Given the description of an element on the screen output the (x, y) to click on. 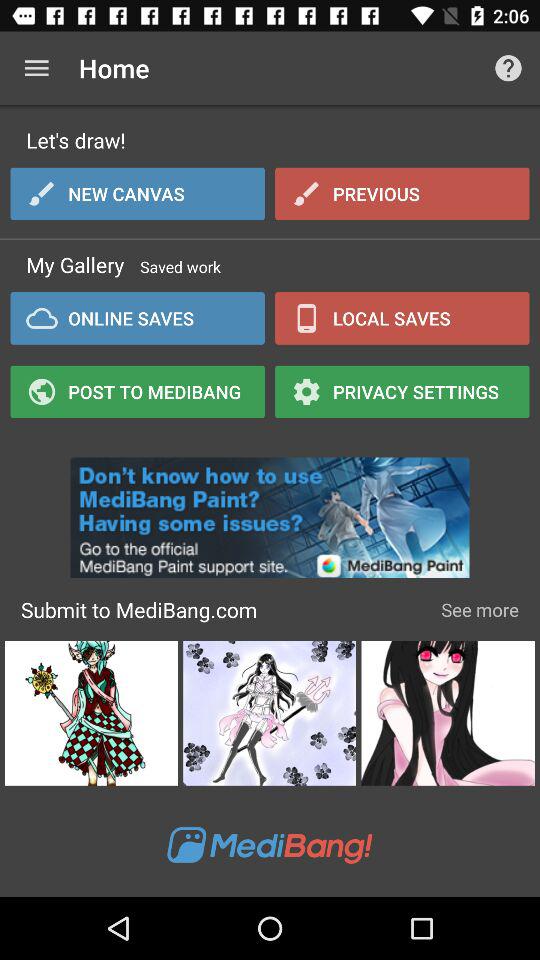
tap icon next to online saves item (402, 391)
